Given the description of an element on the screen output the (x, y) to click on. 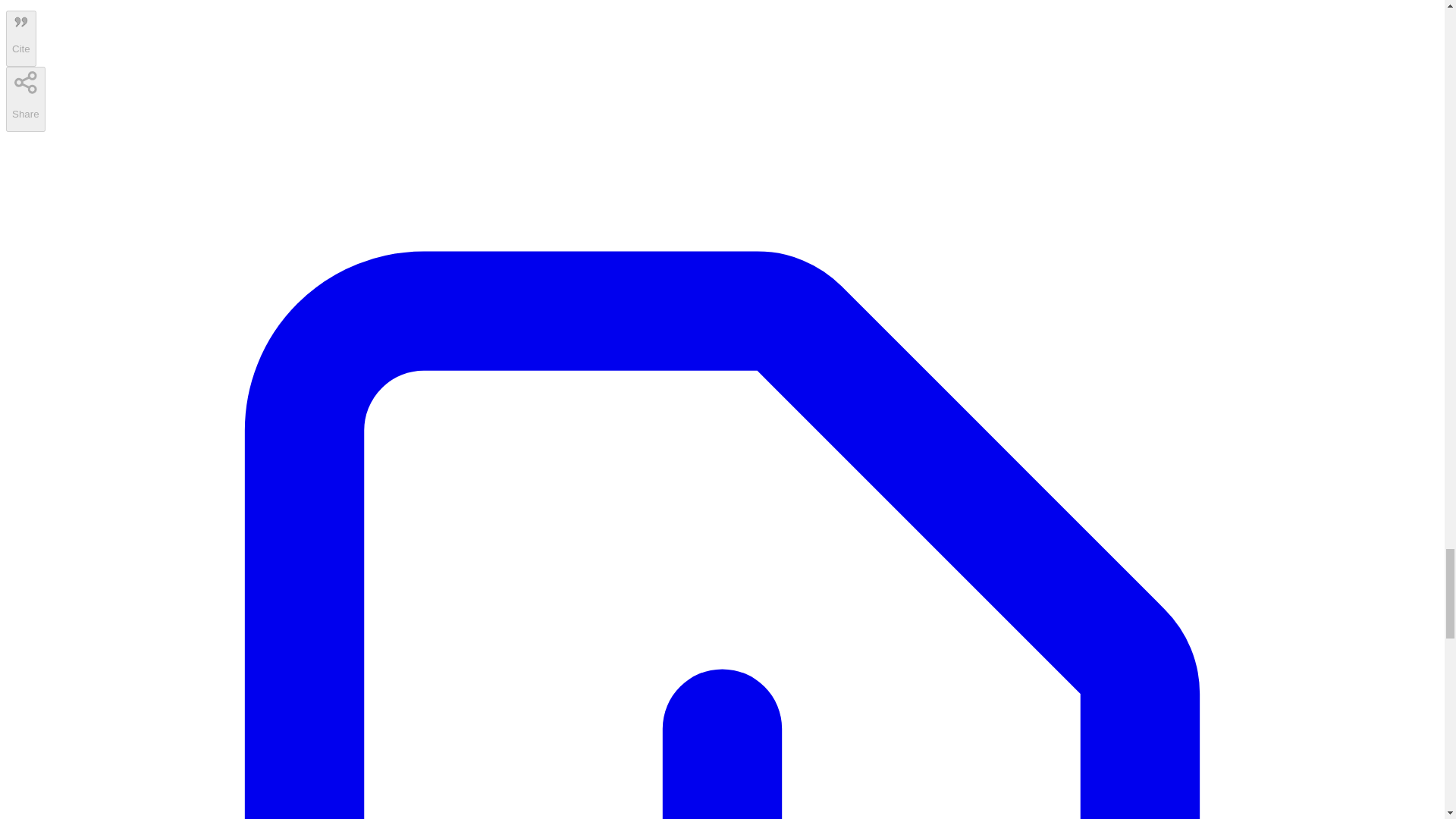
Cite (20, 38)
Share (25, 98)
